Given the description of an element on the screen output the (x, y) to click on. 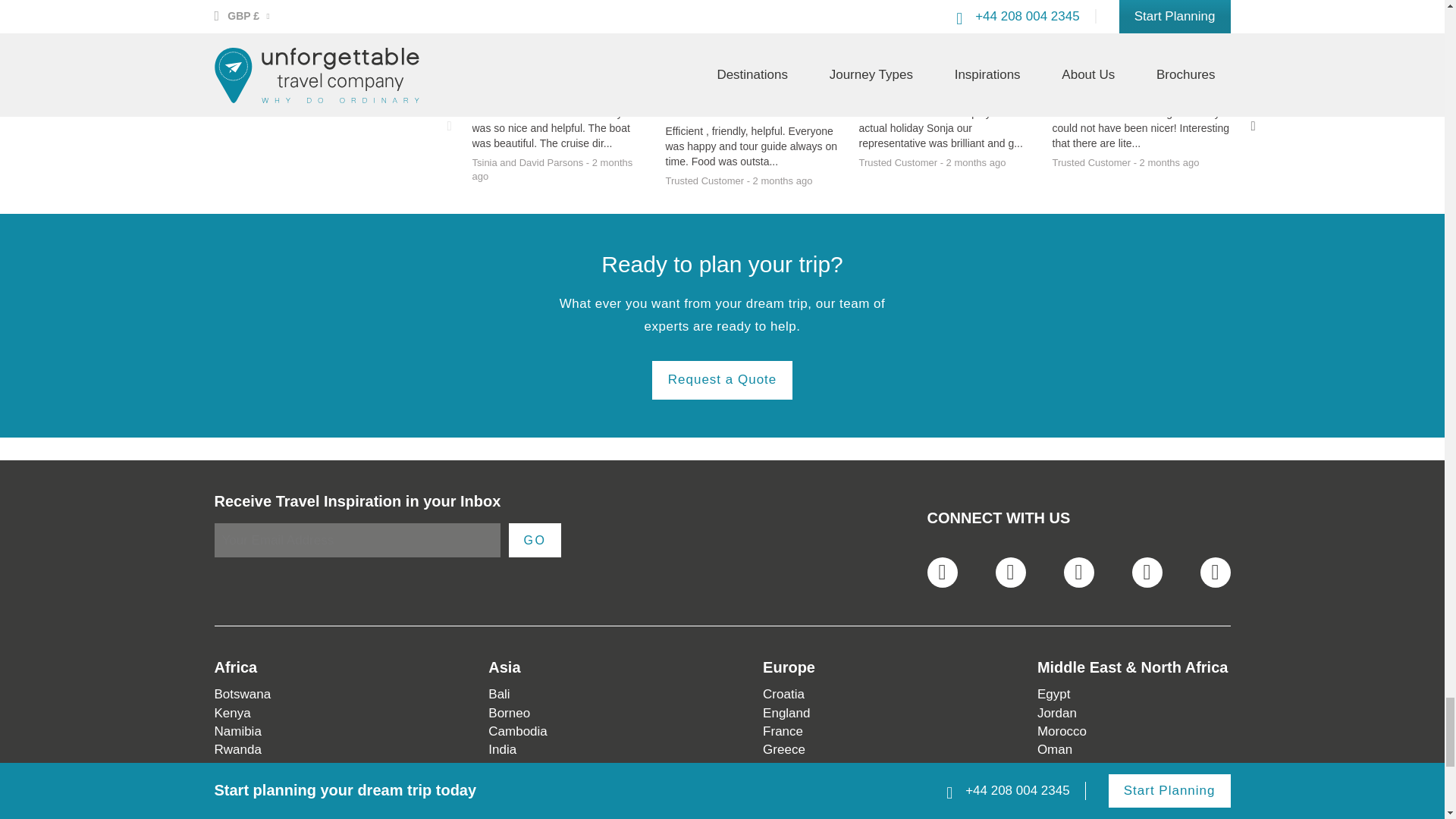
Go (534, 540)
